Given the description of an element on the screen output the (x, y) to click on. 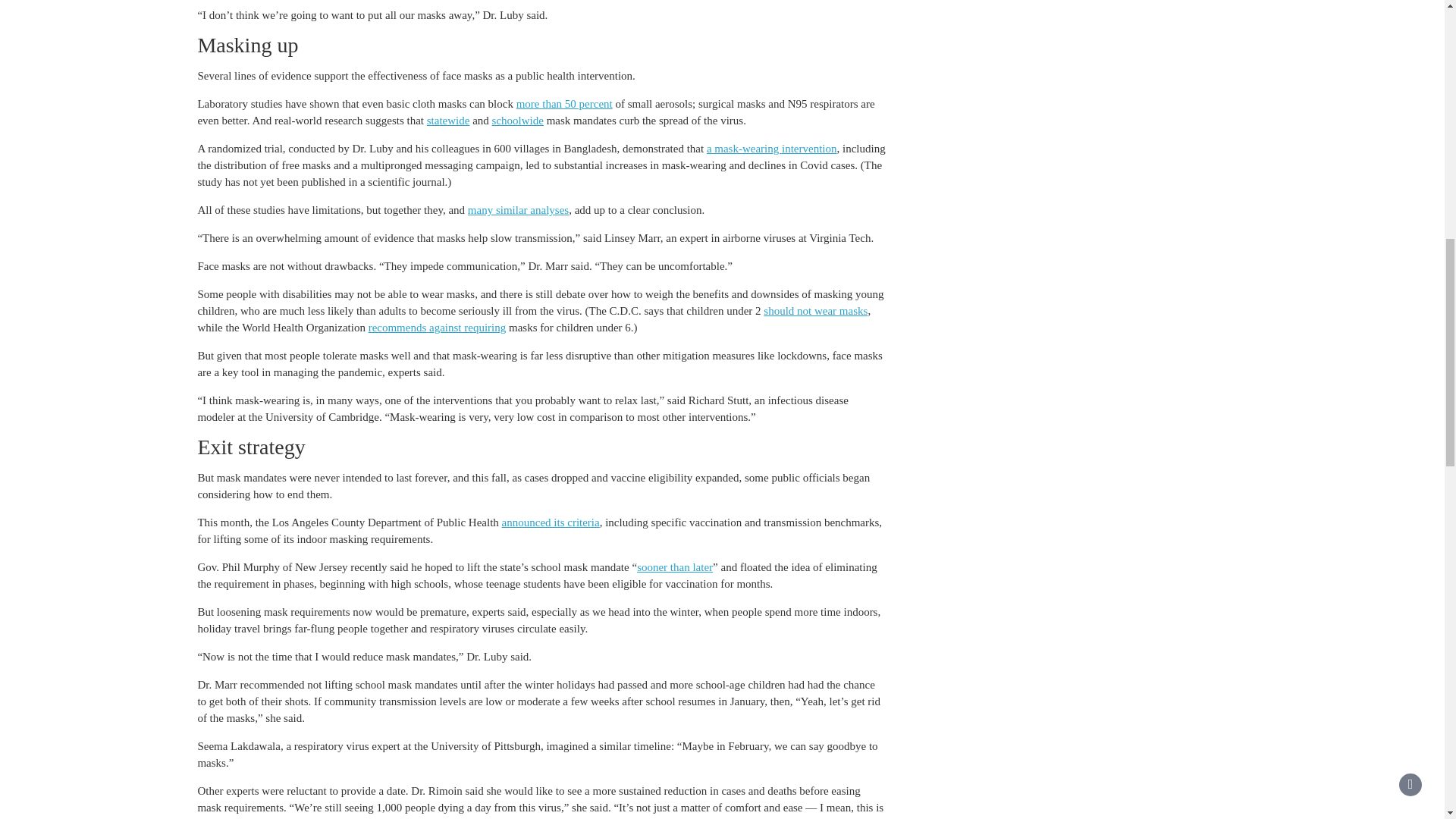
statewide (448, 120)
schoolwide (517, 120)
a mask-wearing intervention (771, 148)
many similar analyses (518, 209)
recommends against requiring (437, 327)
announced its criteria (550, 522)
sooner than later (675, 567)
more than 50 percent (564, 103)
should not wear masks (814, 310)
